Given the description of an element on the screen output the (x, y) to click on. 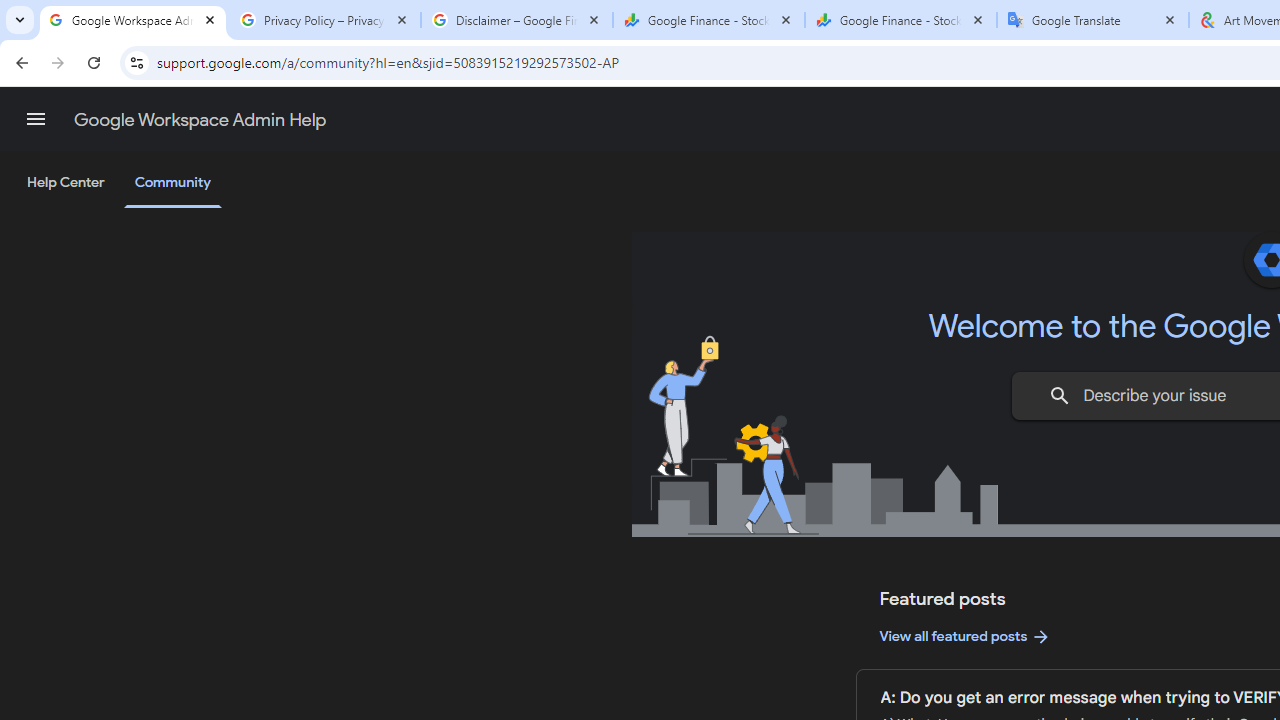
Google Workspace Admin Help (199, 119)
View all featured posts (965, 636)
Help Center (65, 183)
Google Translate (1093, 20)
Google Workspace Admin Community (133, 20)
